Given the description of an element on the screen output the (x, y) to click on. 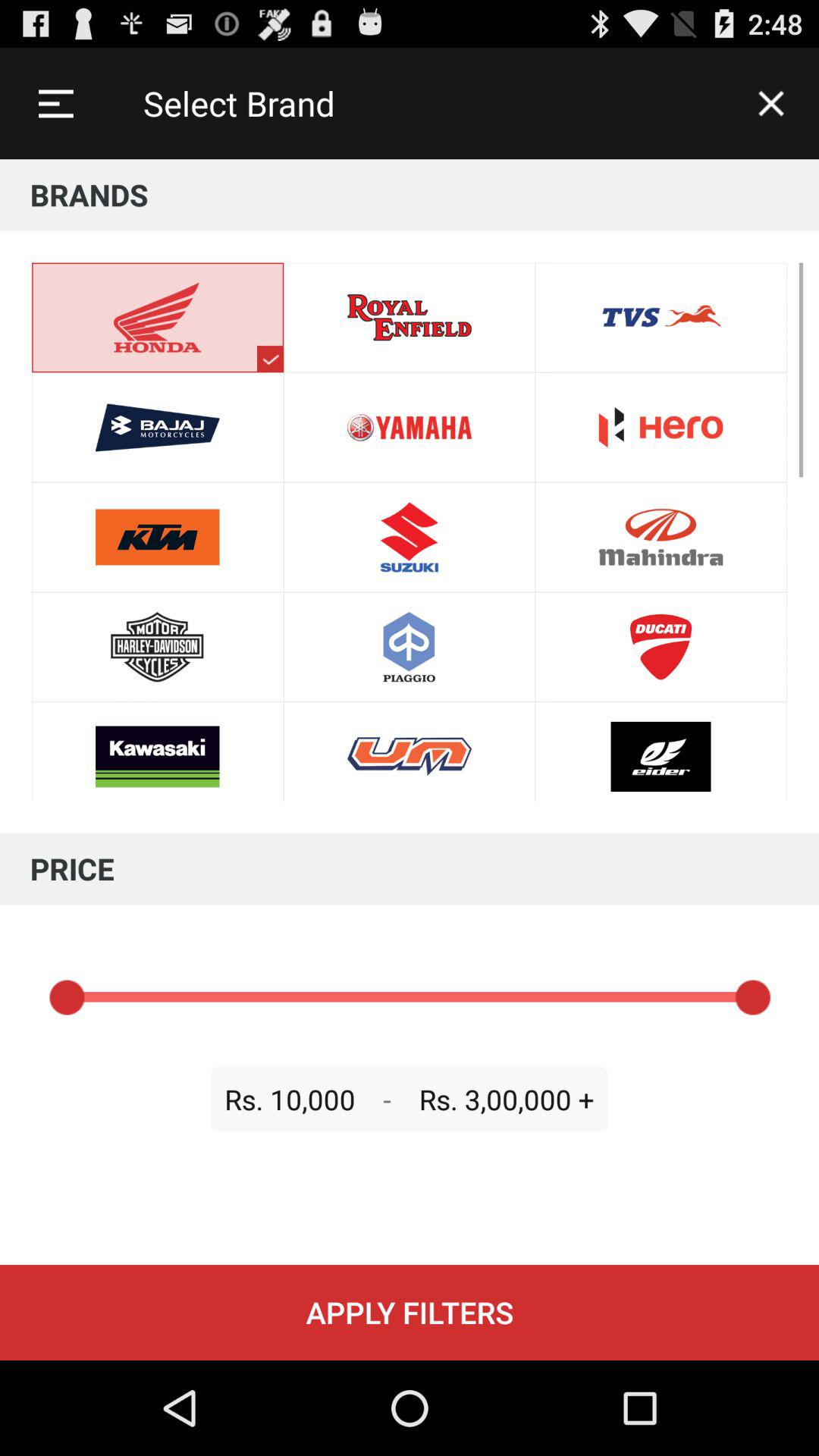
turn off apply filters (409, 1312)
